Given the description of an element on the screen output the (x, y) to click on. 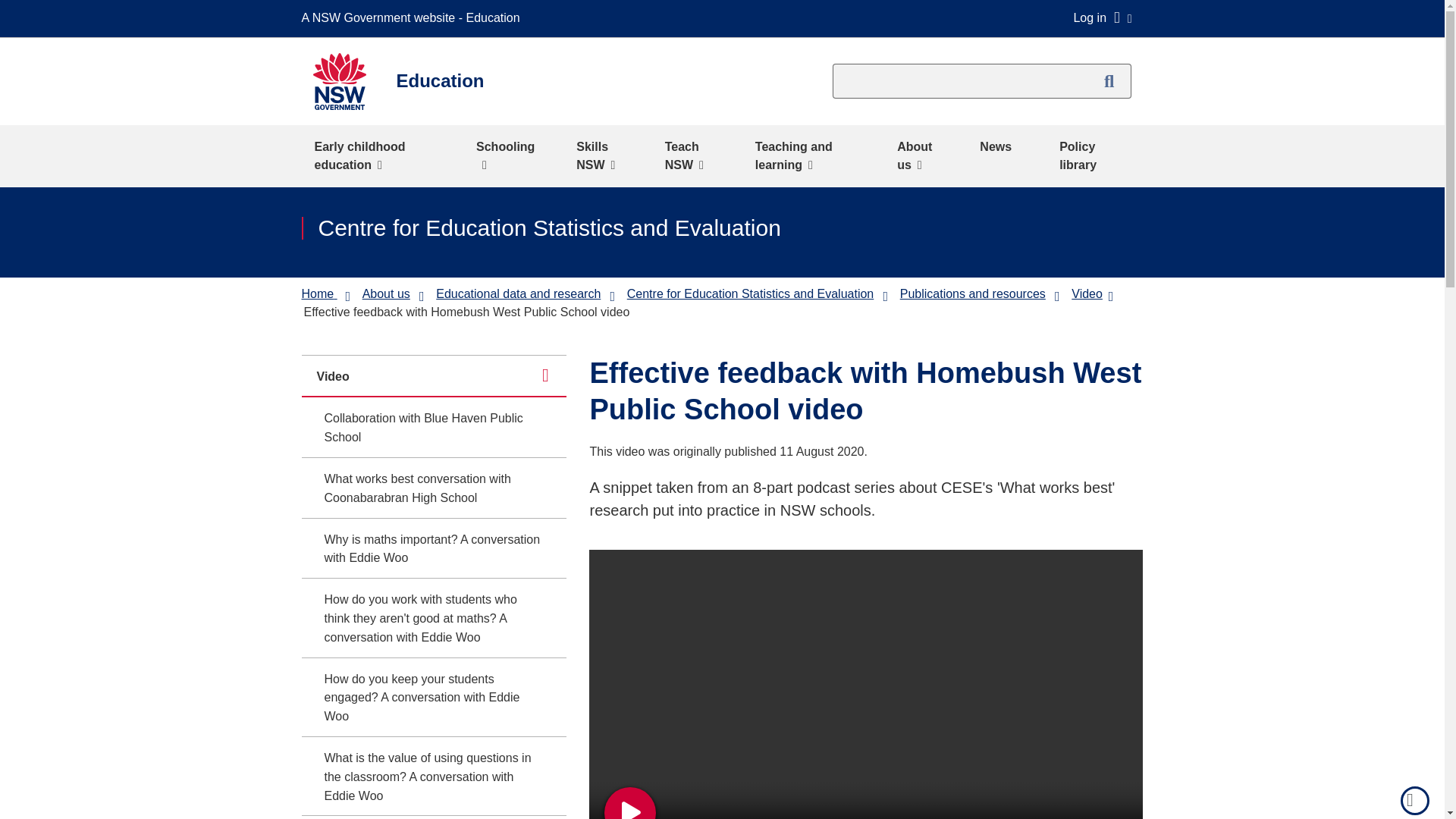
Go to NSW Department of Education homepage (318, 293)
Log in (1101, 17)
NSW Logo (339, 81)
A NSW Government website - Education (414, 18)
